Given the description of an element on the screen output the (x, y) to click on. 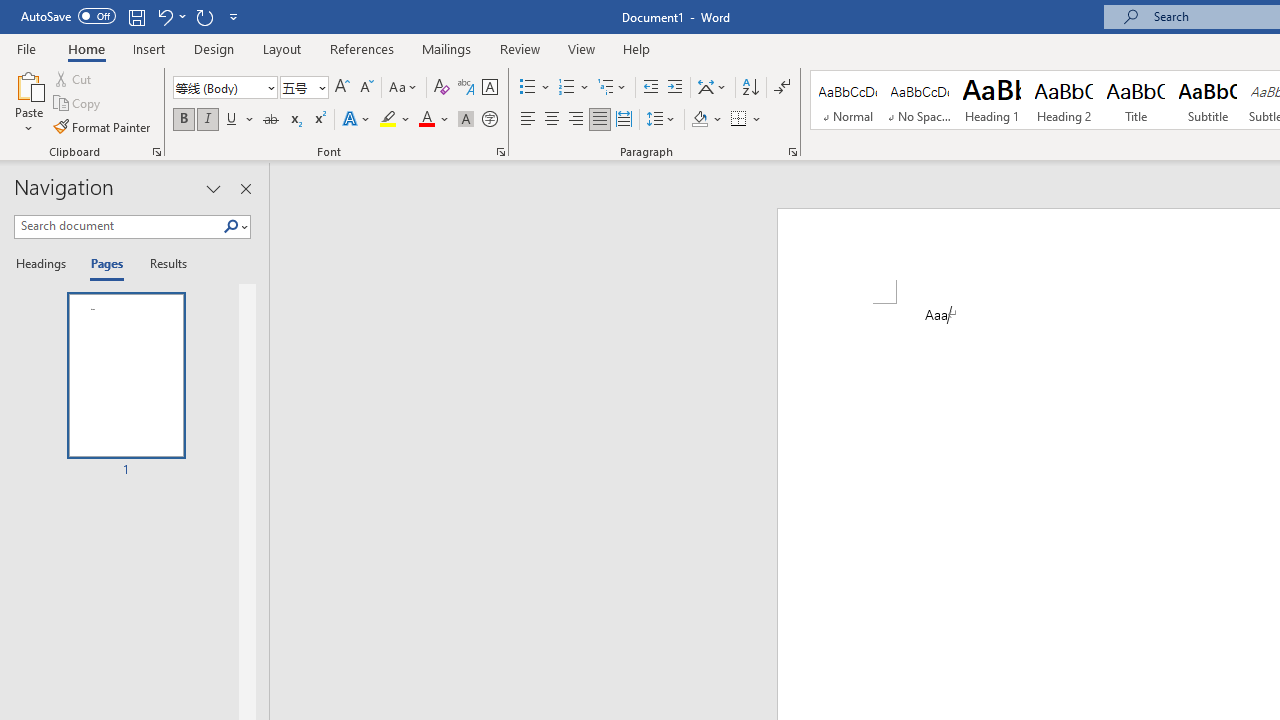
Repeat Style (204, 15)
